Given the description of an element on the screen output the (x, y) to click on. 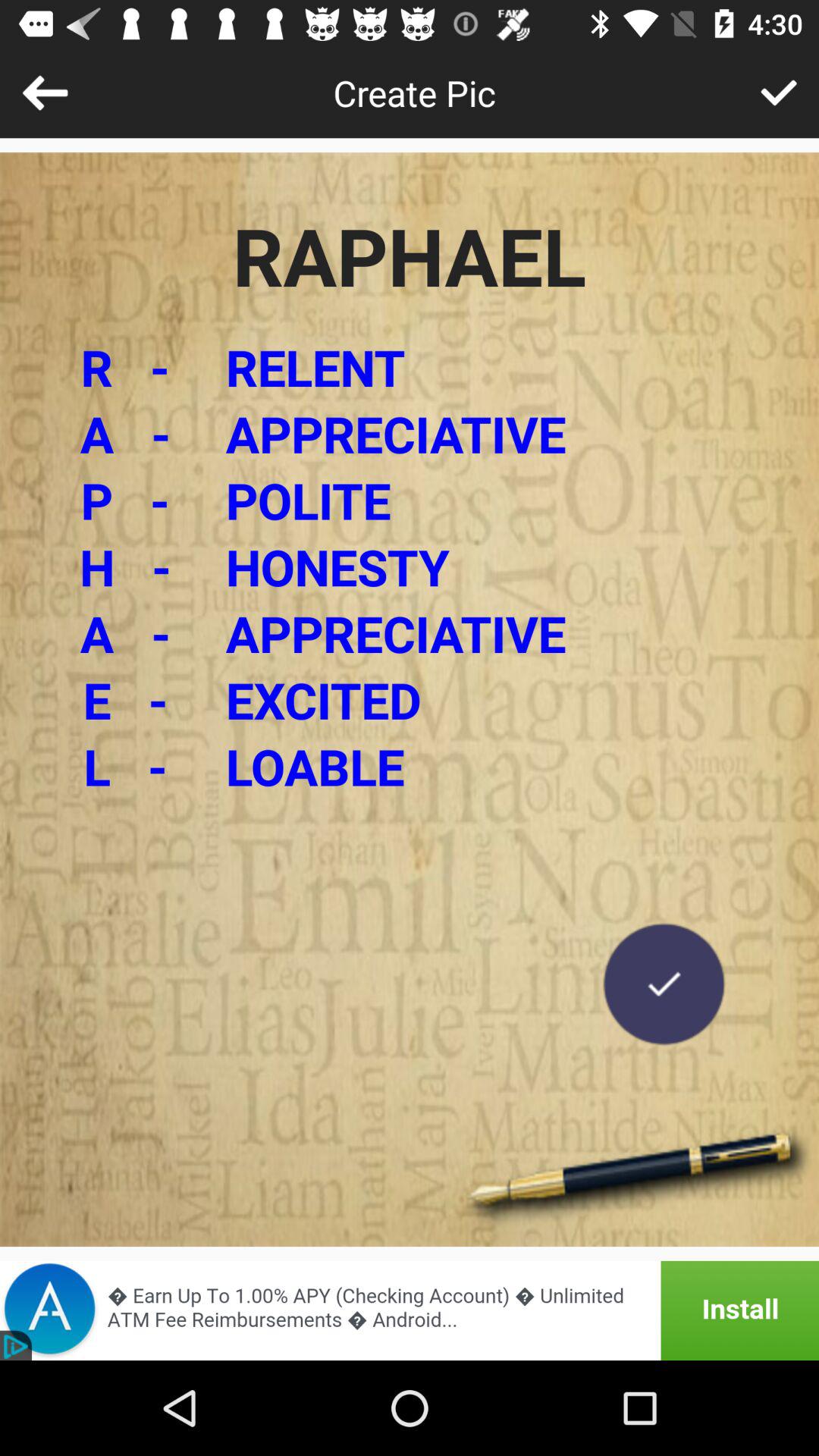
save option (664, 983)
